Given the description of an element on the screen output the (x, y) to click on. 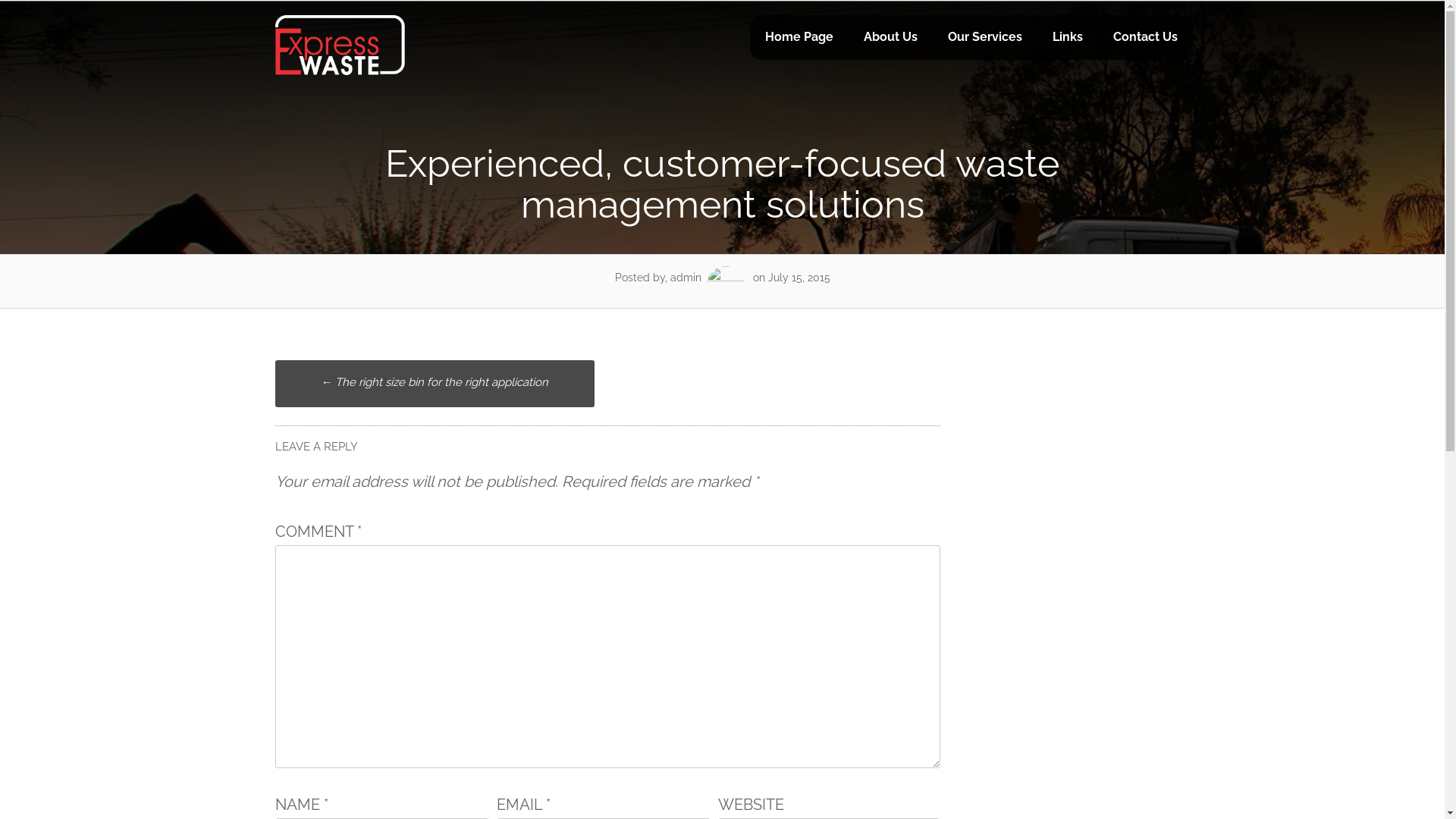
Express Waste Element type: hover (339, 72)
Our Services Element type: text (984, 37)
Links Element type: text (1067, 37)
Home Page Element type: text (798, 37)
About Us Element type: text (889, 37)
Contact Us Element type: text (1145, 37)
